Given the description of an element on the screen output the (x, y) to click on. 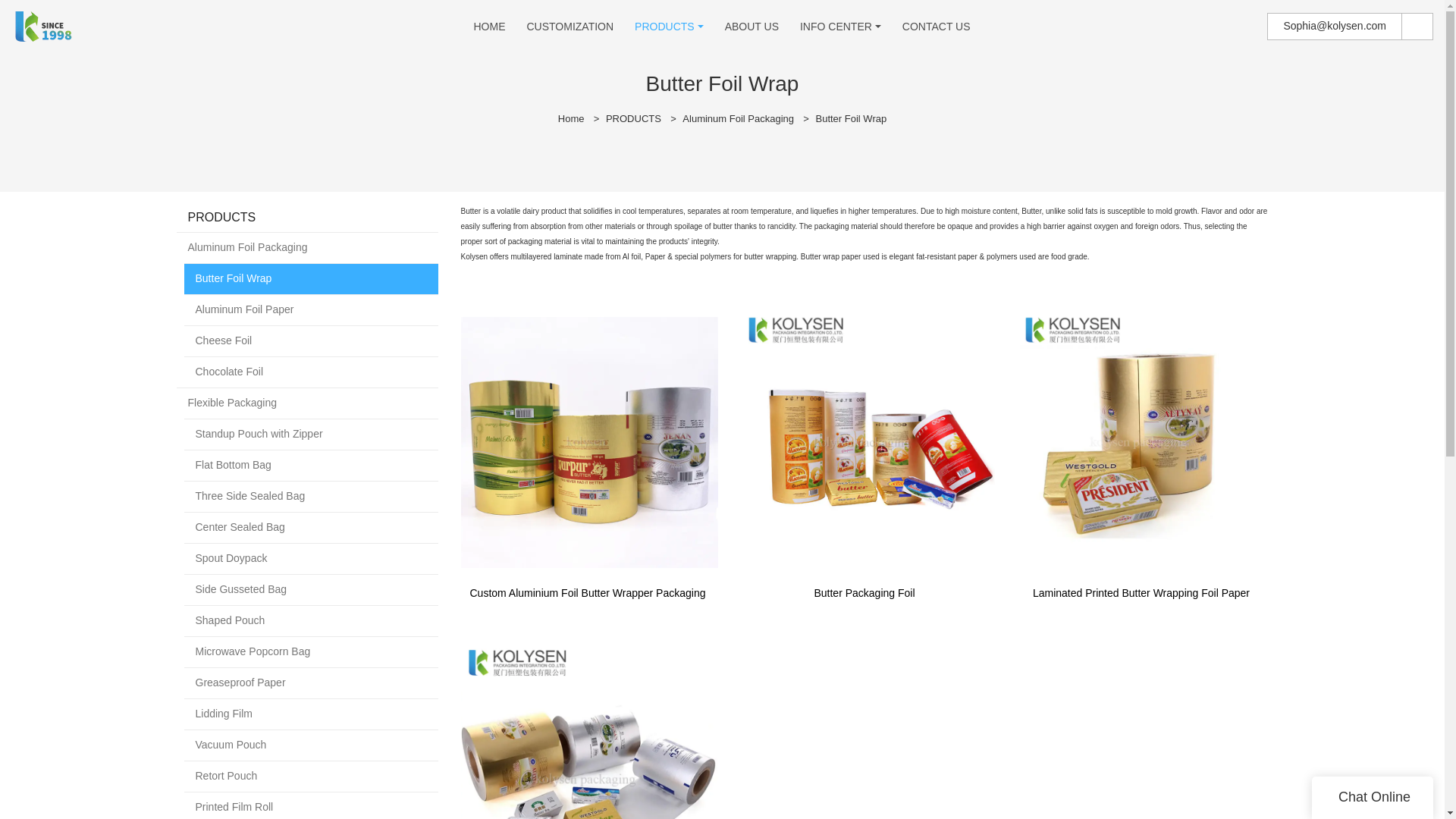
Home (571, 118)
PRODUCTS (633, 118)
CUSTOMIZATION (568, 26)
Butter Foil Wrap (850, 118)
Aluminum Foil Packaging (307, 247)
Aluminum Foil Packaging (737, 118)
ABOUT US (751, 26)
PRODUCTS (664, 26)
HOME (489, 26)
CONTACT US (936, 26)
